Given the description of an element on the screen output the (x, y) to click on. 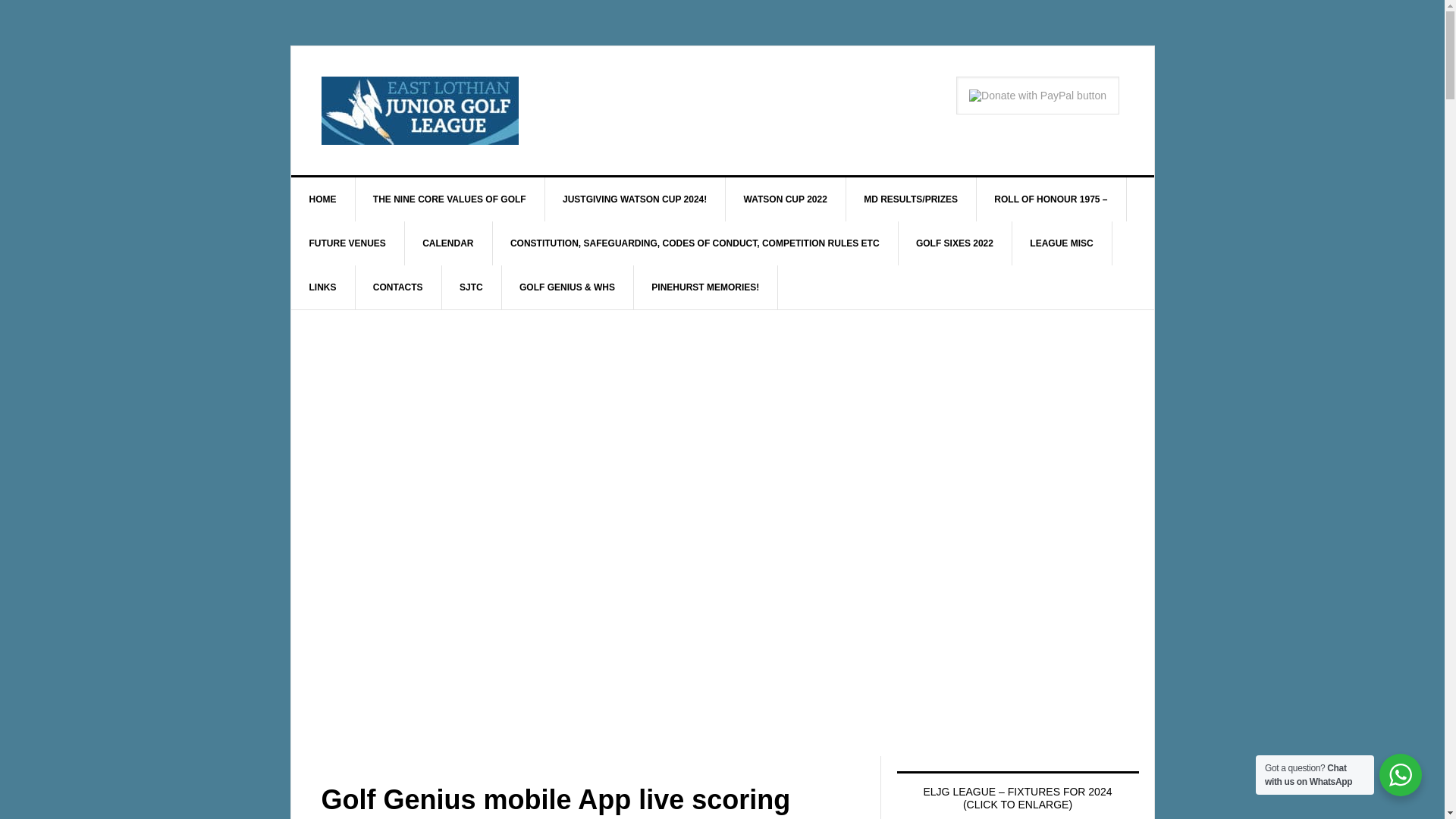
CALENDAR (448, 243)
PayPal - The safer, easier way to pay online! (1037, 95)
HOME (323, 199)
WATSON CUP 2022 (785, 199)
JUSTGIVING WATSON CUP 2024! (634, 199)
THE NINE CORE VALUES OF GOLF (449, 199)
FUTURE VENUES (347, 243)
EAST LOTHIAN JUNIOR GOLF LEAGUE (419, 110)
